Given the description of an element on the screen output the (x, y) to click on. 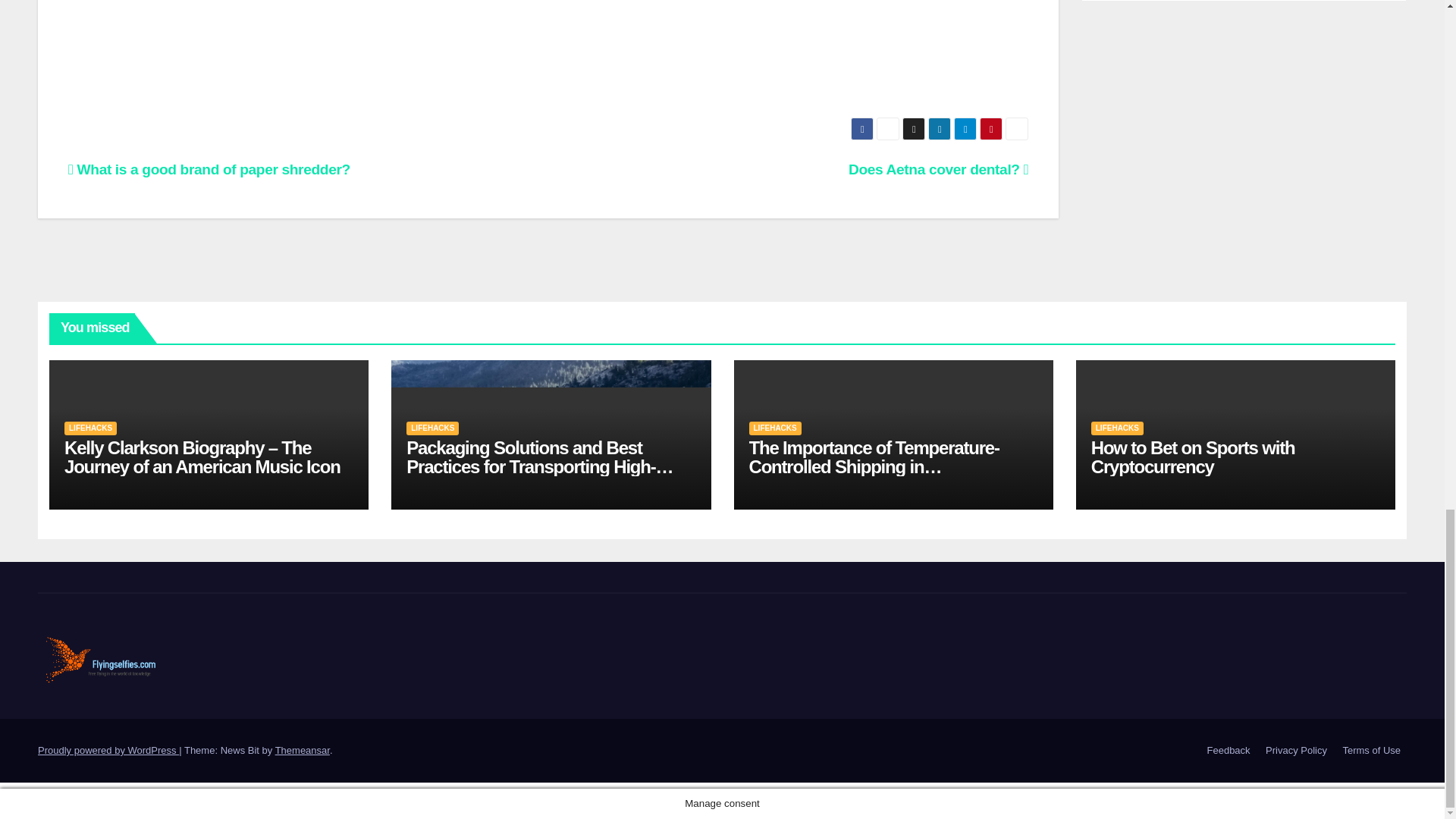
What is a good brand of paper shredder? (209, 169)
Permalink to: How to Bet on Sports with Cryptocurrency (1192, 456)
Does Aetna cover dental? (937, 169)
Feedback (1228, 750)
Terms of Use (1371, 750)
Privacy Policy (1296, 750)
